Given the description of an element on the screen output the (x, y) to click on. 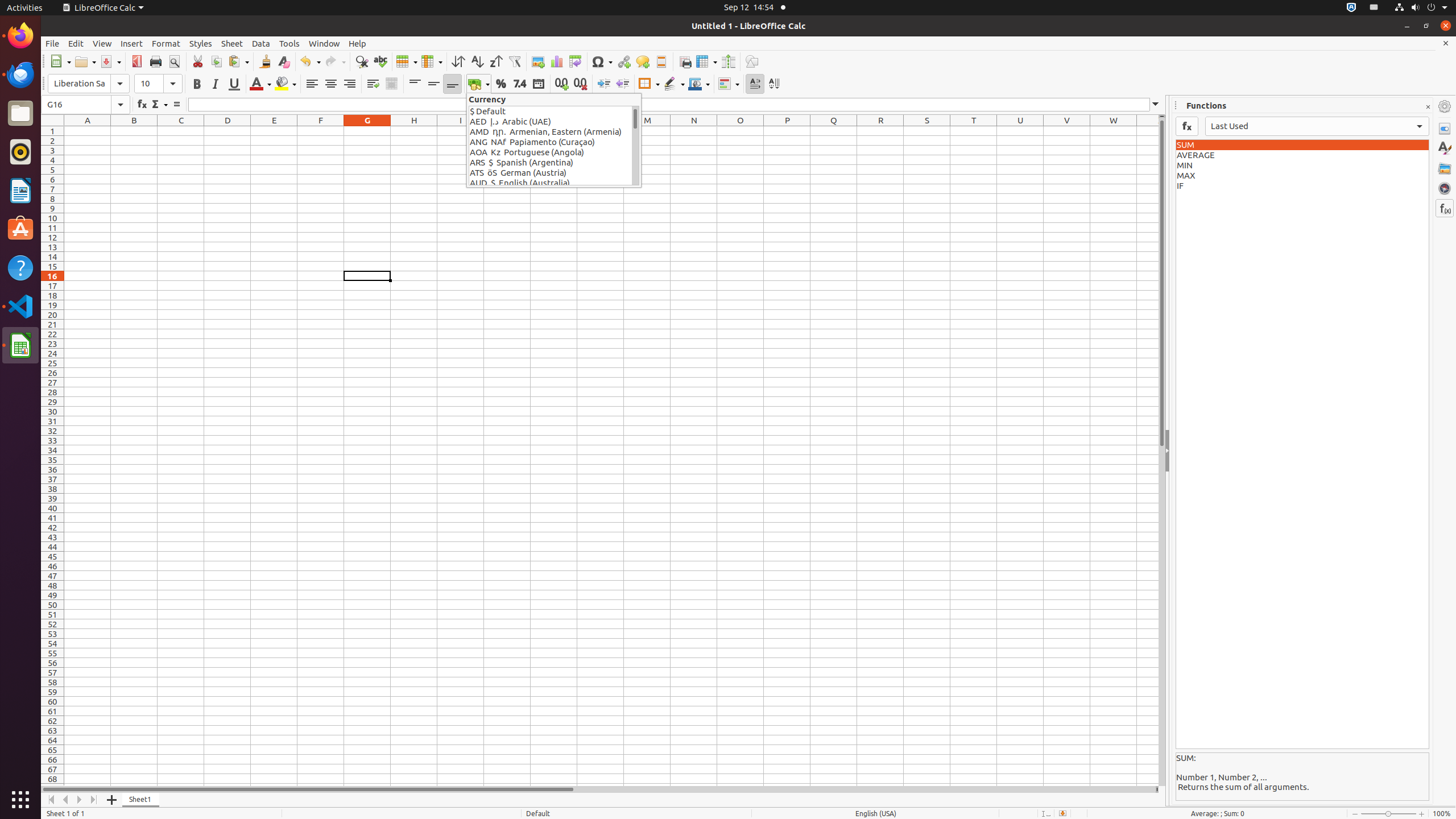
Spelling Element type: push-button (379, 61)
Hyperlink Element type: toggle-button (623, 61)
System Element type: menu (1420, 7)
LibreOffice Calc Element type: menu (102, 7)
Move Right Element type: push-button (79, 799)
